Given the description of an element on the screen output the (x, y) to click on. 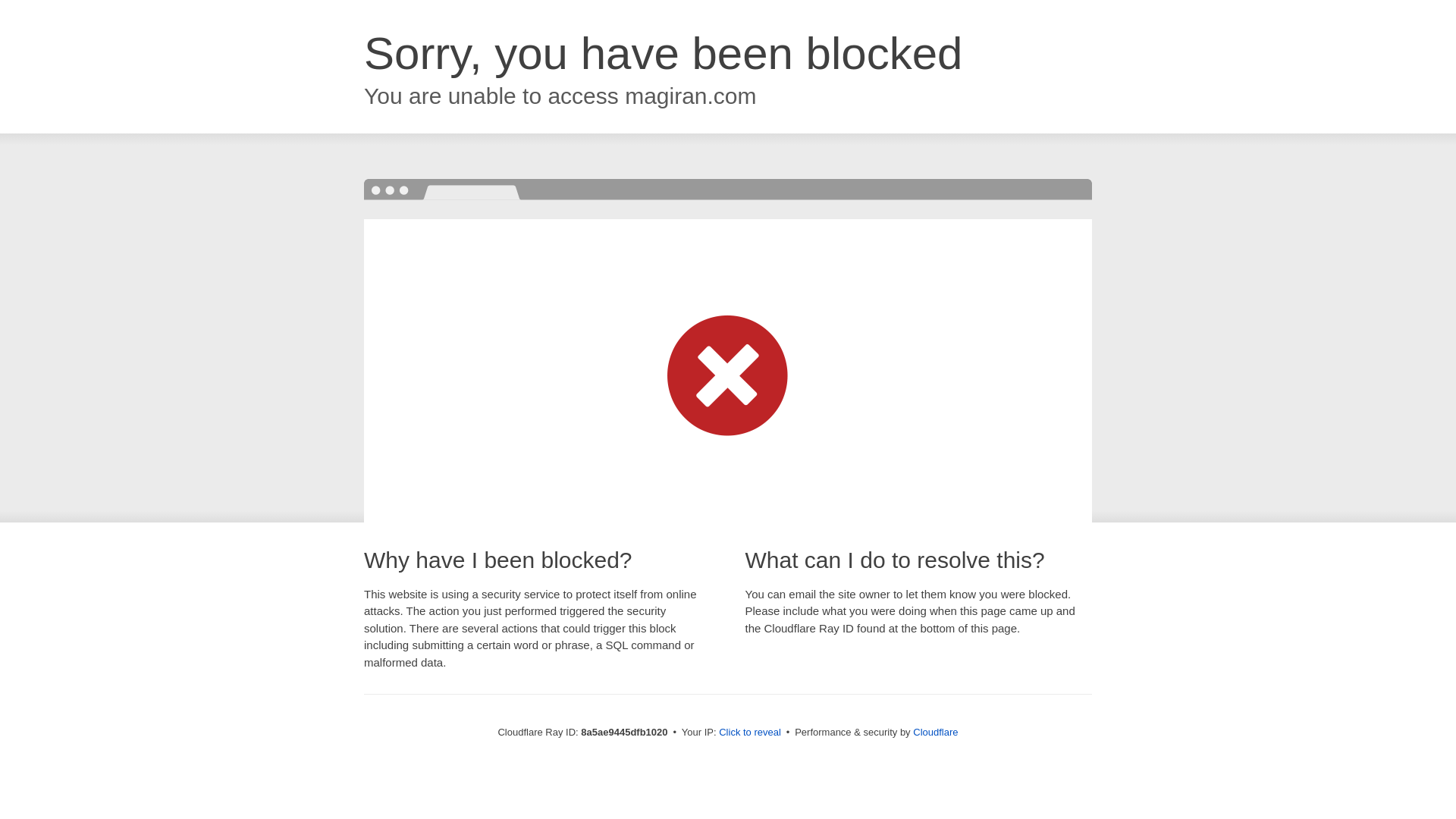
Cloudflare (935, 731)
Click to reveal (749, 732)
